Given the description of an element on the screen output the (x, y) to click on. 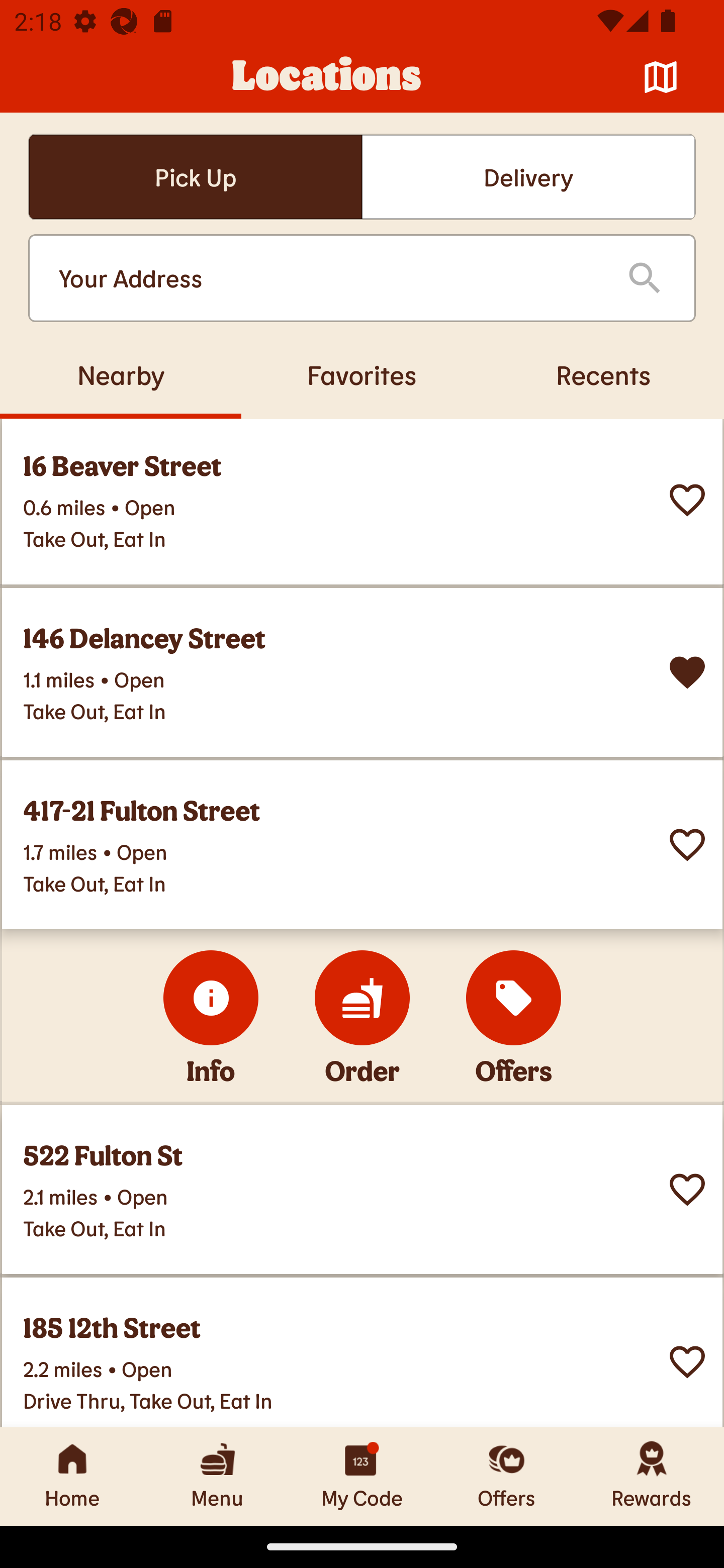
Map 󰦂 (660, 77)
Locations (326, 77)
Pick UpSelected Pick UpSelected Pick Up (195, 176)
Delivery Delivery Delivery (528, 176)
Your Address (327, 277)
Nearby (120, 374)
Favorites (361, 374)
Recents (603, 374)
Set this restaurant as a favorite  (687, 499)
Remove from Favorites?  (687, 671)
Set this restaurant as a favorite  (687, 844)
Info  (210, 997)
Order (361, 997)
Offers  (513, 997)
Set this restaurant as a favorite  (687, 1189)
Set this restaurant as a favorite  (687, 1361)
Home (72, 1475)
Menu (216, 1475)
My Code (361, 1475)
Offers (506, 1475)
Rewards (651, 1475)
